Given the description of an element on the screen output the (x, y) to click on. 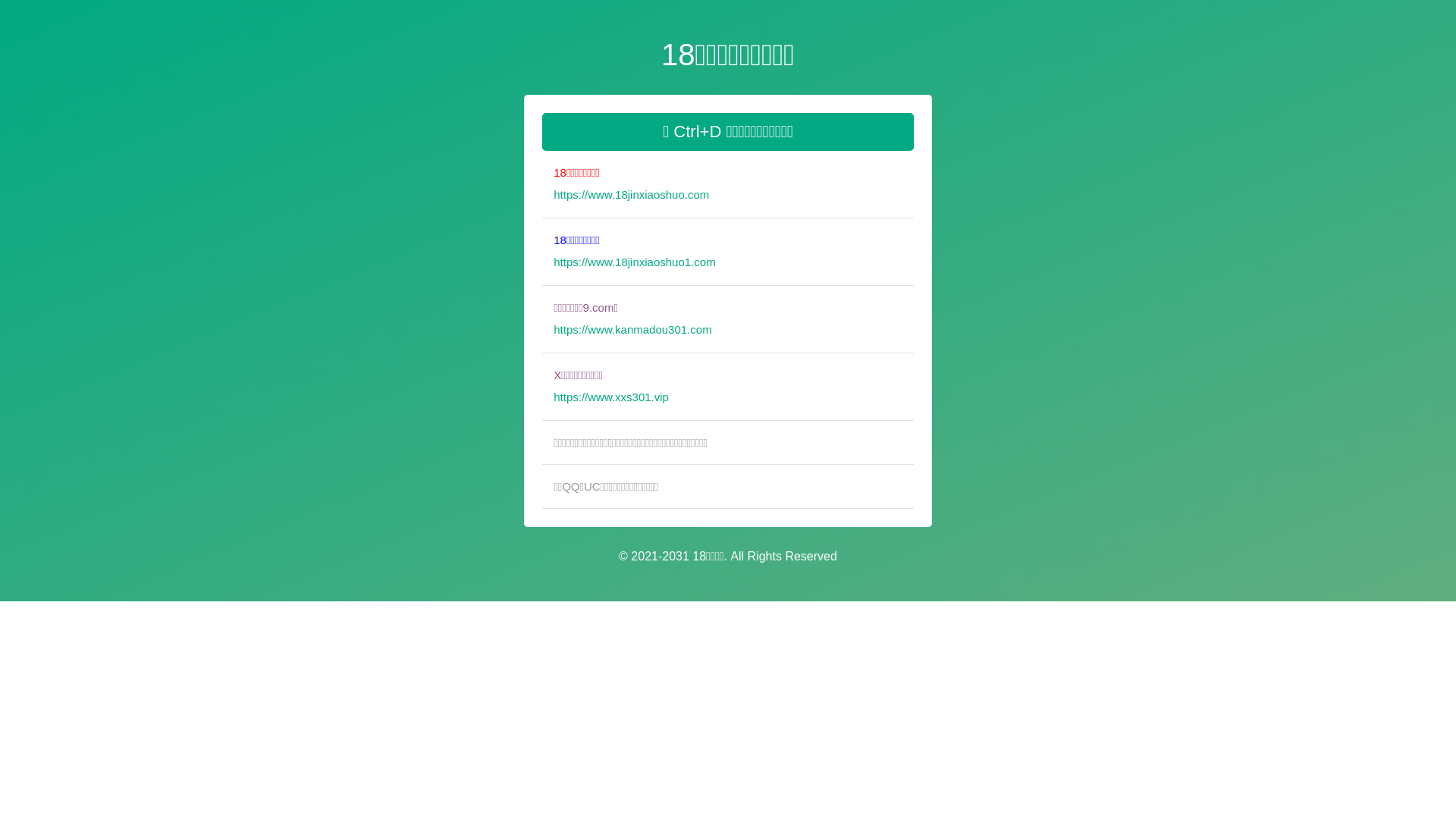
https://www.kanmadou301.com Element type: text (733, 338)
https://www.xxs301.vip Element type: text (733, 405)
https://www.18jinxiaoshuo1.com Element type: text (733, 270)
https://www.18jinxiaoshuo.com Element type: text (733, 203)
